Given the description of an element on the screen output the (x, y) to click on. 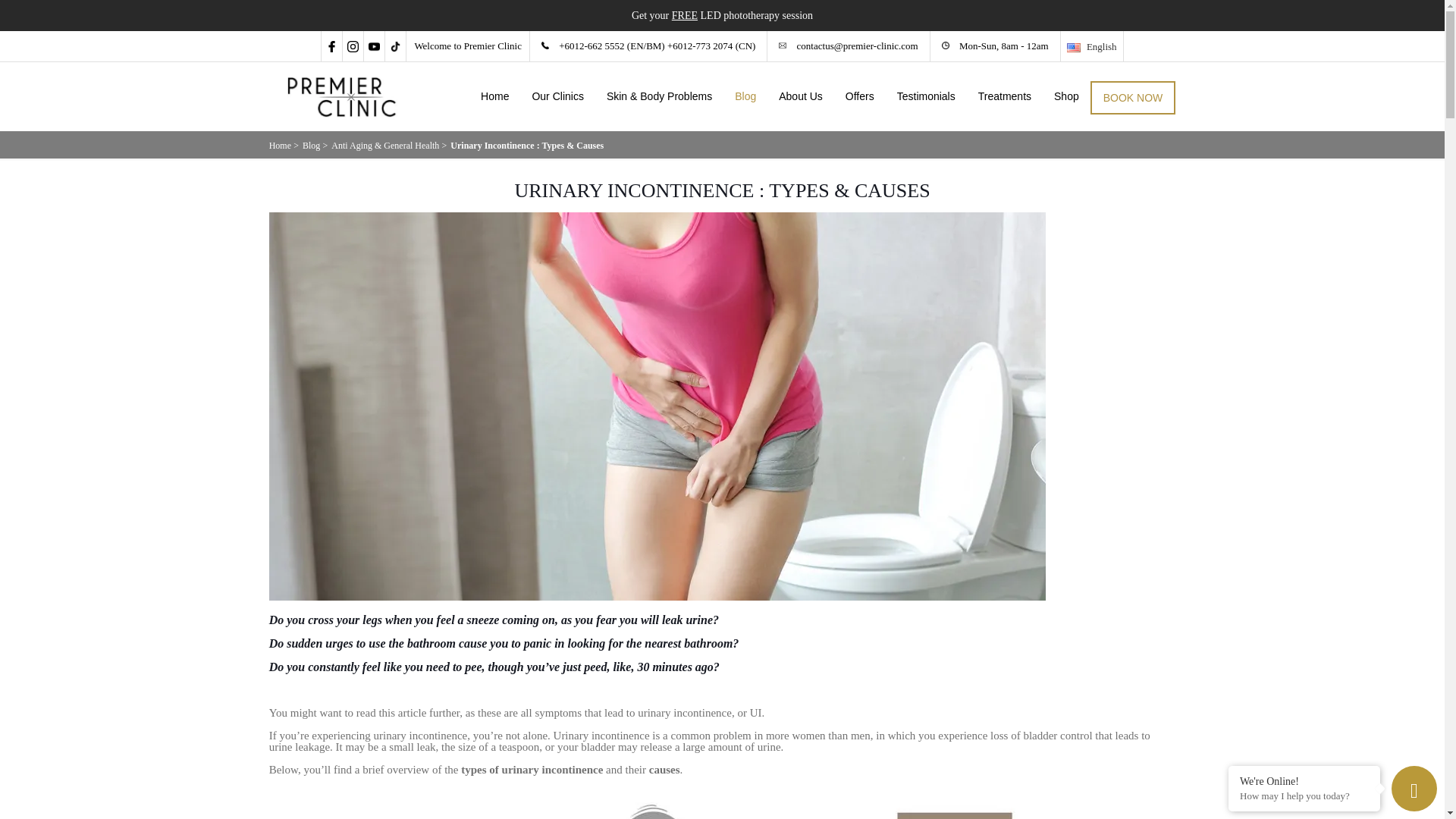
Premier Clinic (340, 96)
Blog (311, 145)
Shop (1066, 95)
How may I help you today? (1304, 796)
About Us (800, 95)
English (1091, 44)
Home (280, 145)
Treatments (1004, 95)
BOOK NOW (1133, 97)
Home (493, 95)
Our Clinics (556, 95)
Offers (859, 95)
Blog (745, 95)
Get your FREE LED phototherapy session (721, 15)
Testimonials (925, 95)
